Given the description of an element on the screen output the (x, y) to click on. 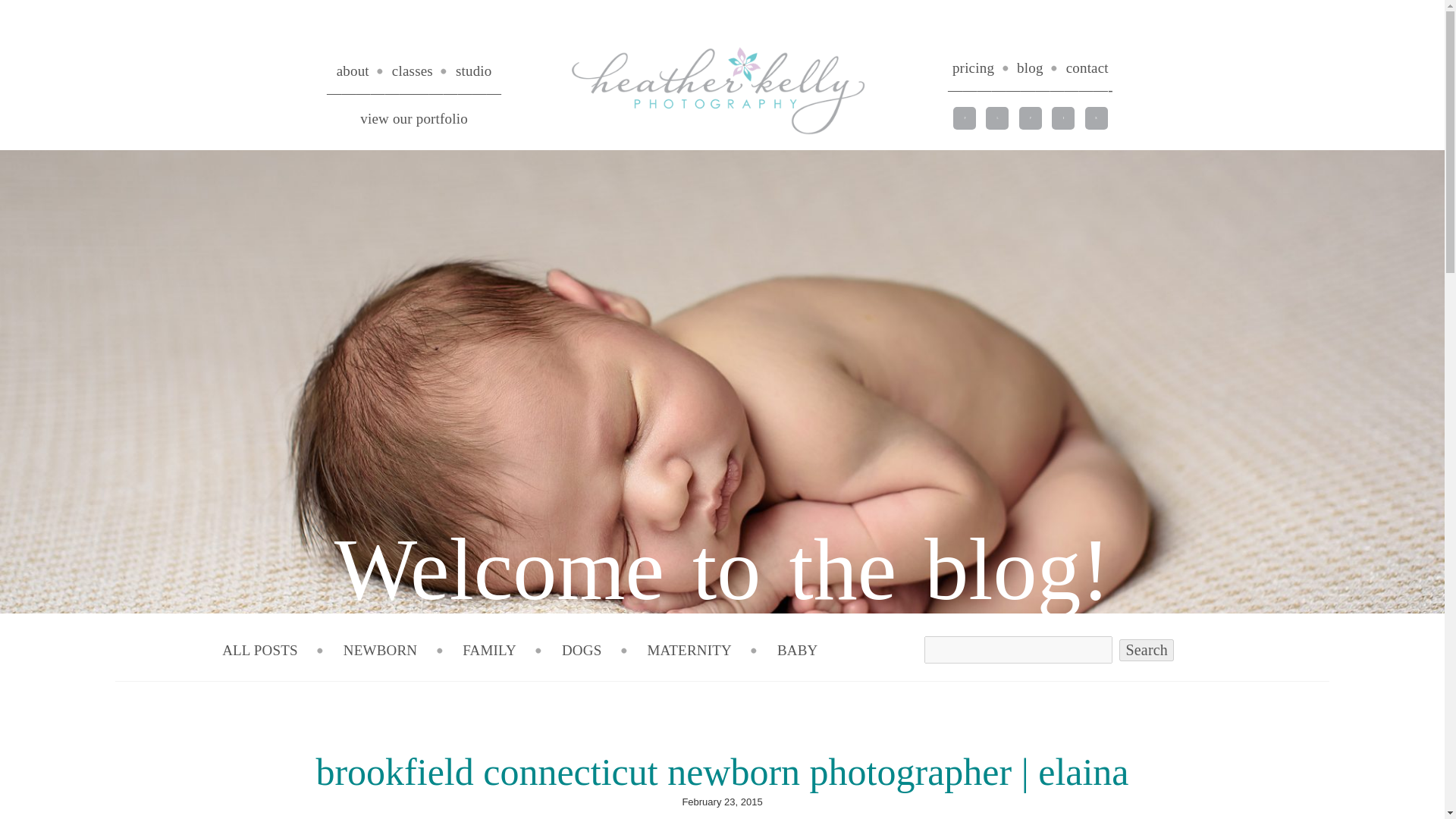
contact (1086, 67)
DOGS (582, 650)
I (1063, 117)
pricing (973, 67)
BABY (797, 650)
about (352, 70)
FAMILY (489, 650)
F (965, 117)
view our portfolio (413, 118)
P (1029, 117)
